Given the description of an element on the screen output the (x, y) to click on. 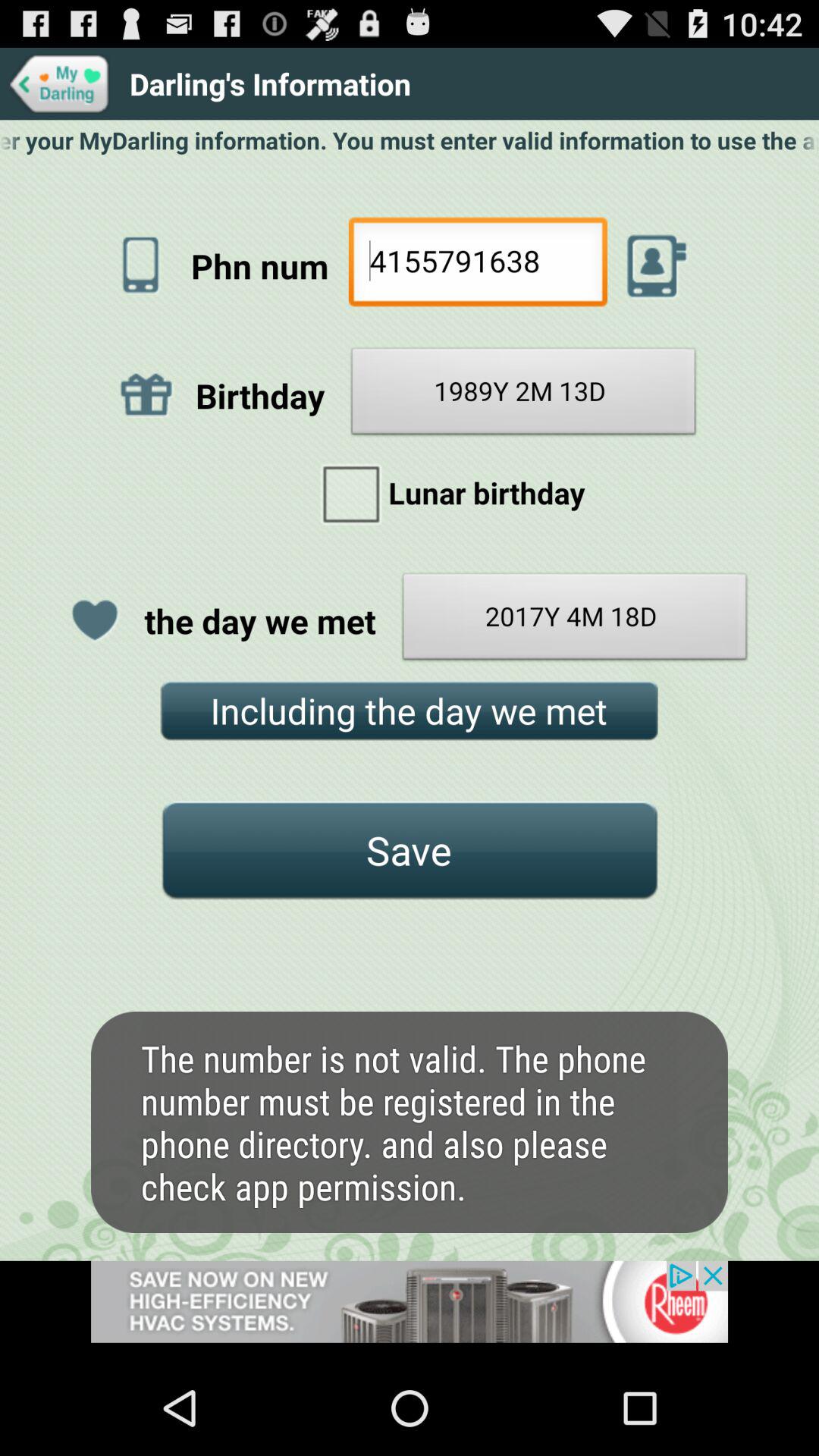
my darling icon (59, 83)
